Given the description of an element on the screen output the (x, y) to click on. 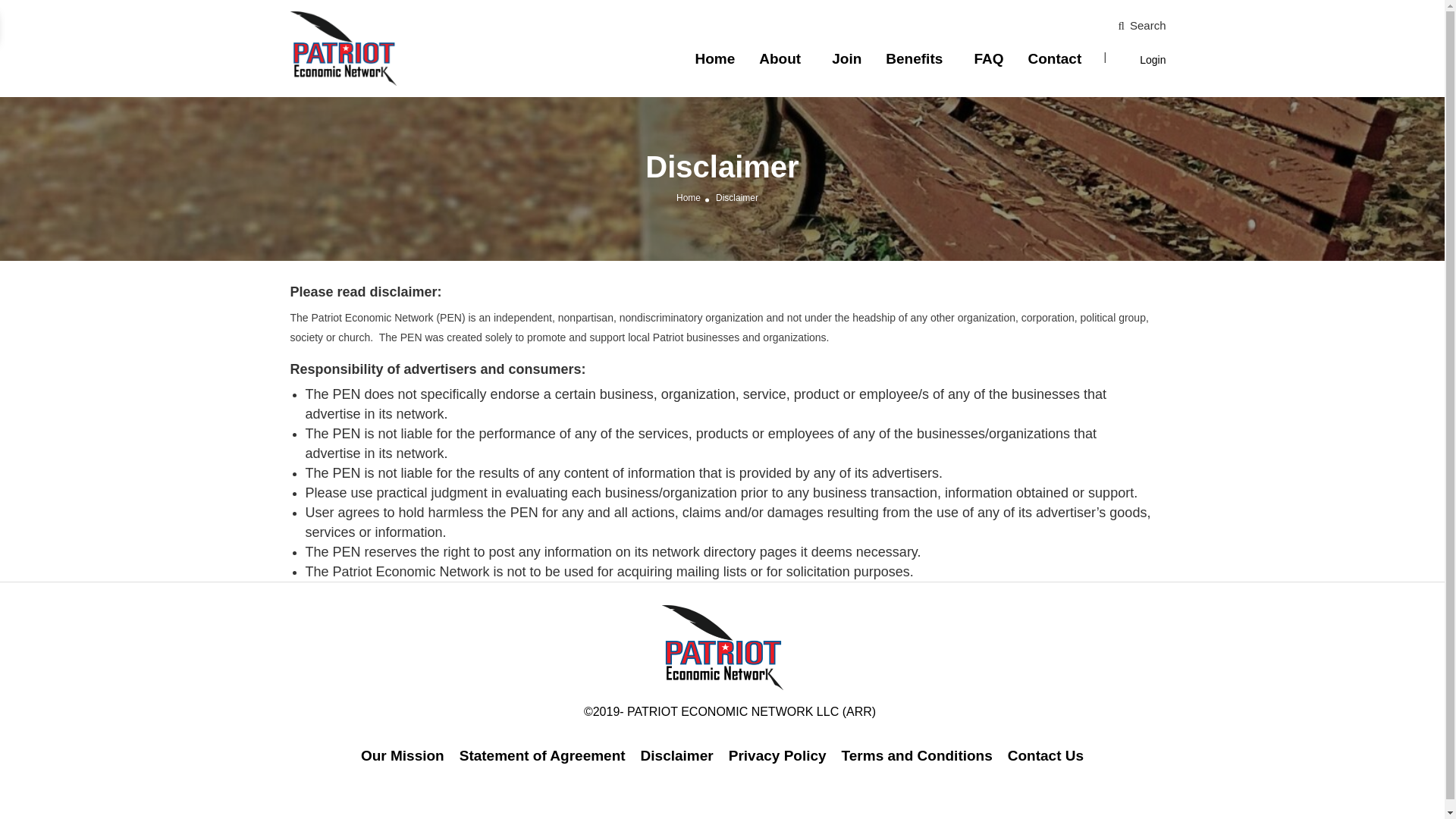
Home (688, 196)
Benefits (913, 58)
Join (846, 58)
FAQ (988, 58)
Home (714, 58)
Contact (1054, 58)
Our Mission (402, 755)
Sign in (721, 464)
Login (1153, 60)
About (779, 58)
Statement of Agreement (543, 755)
